Given the description of an element on the screen output the (x, y) to click on. 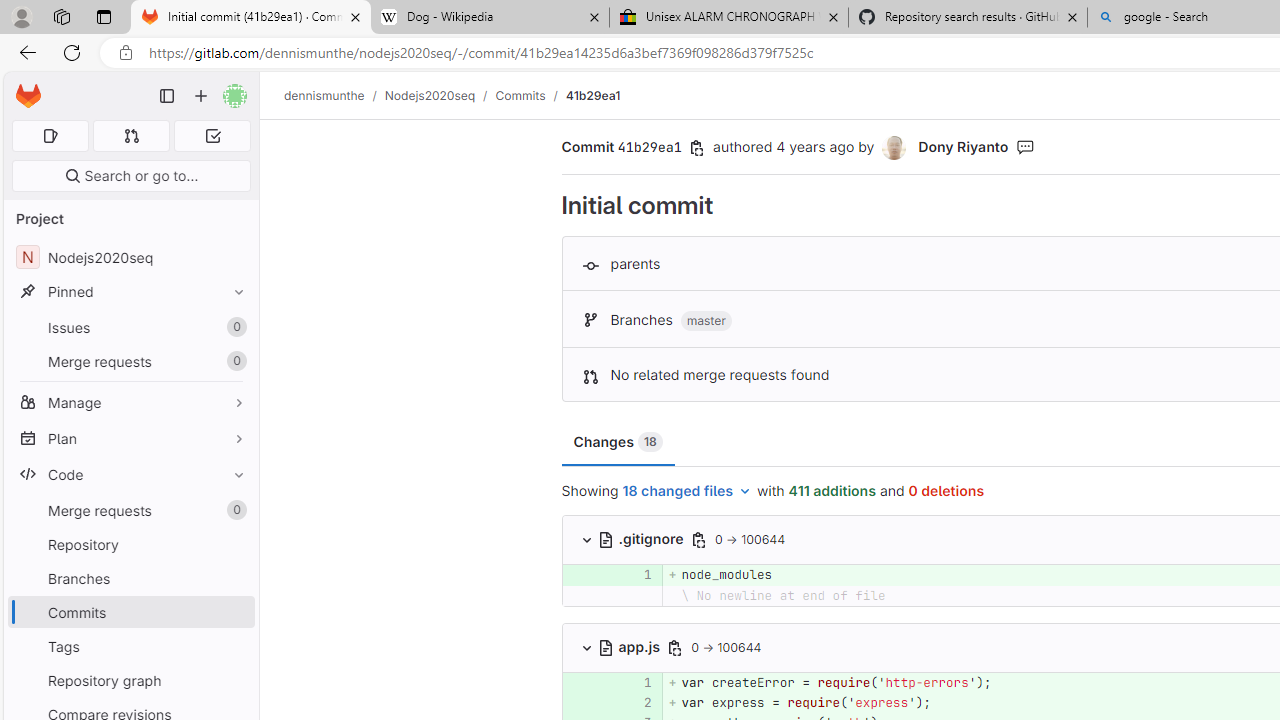
Branches (130, 578)
Repository graph (130, 679)
Plan (130, 438)
Dony Riyanto (962, 146)
Copy commit SHA (697, 148)
Repository (130, 543)
Manage (130, 402)
Commits (130, 612)
app.js  (630, 646)
N Nodejs2020seq (130, 257)
Dony Riyanto's avatar (894, 148)
Pin Repository (234, 544)
Copy file path (675, 647)
41b29ea1 (592, 95)
Merge requests 0 (131, 136)
